Given the description of an element on the screen output the (x, y) to click on. 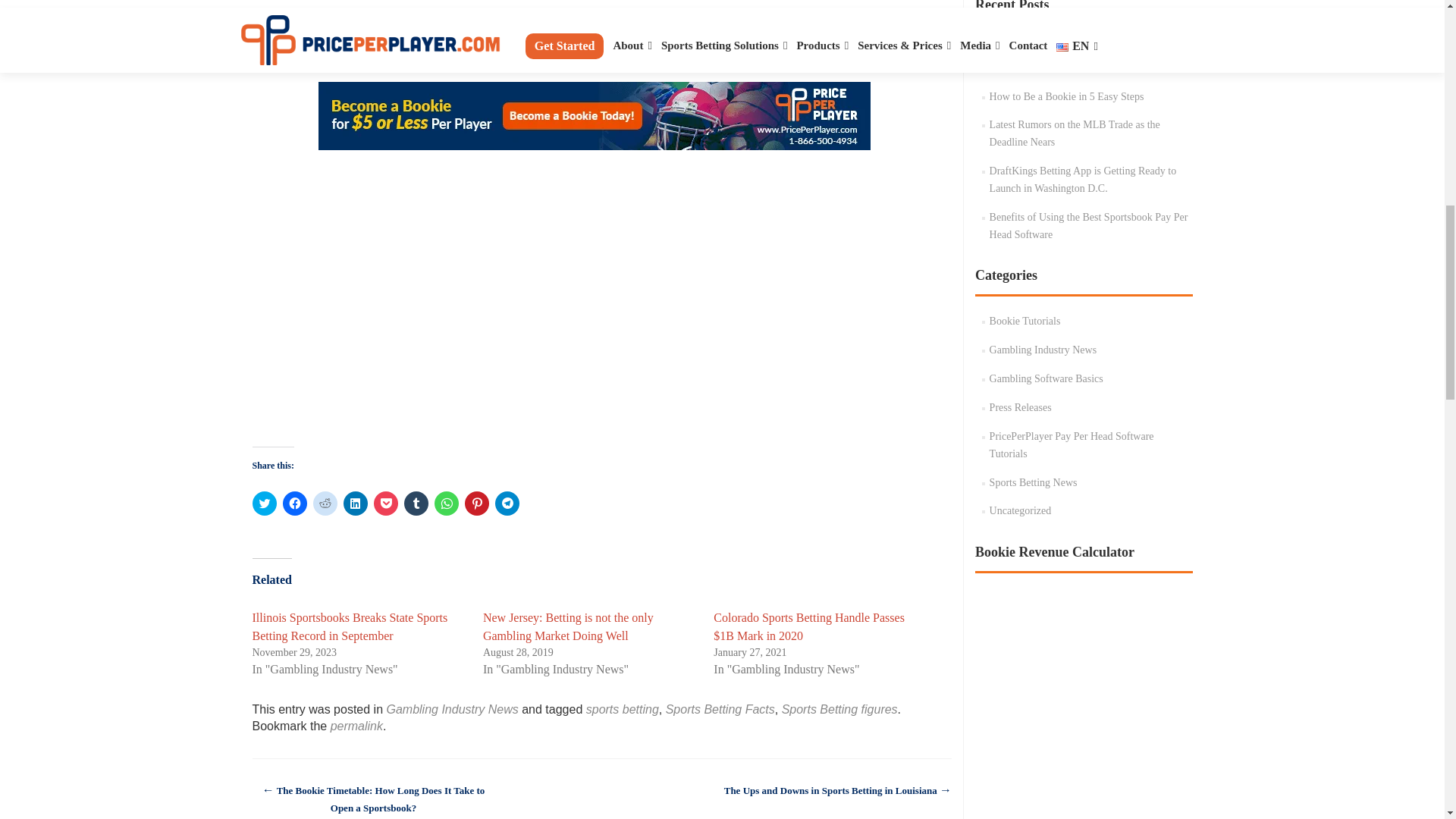
Click to share on Facebook (293, 503)
Click to share on Pinterest (475, 503)
Click to share on LinkedIn (354, 503)
Click to share on Pocket (384, 503)
Click to share on Telegram (506, 503)
Click to share on WhatsApp (445, 503)
Click to share on Twitter (263, 503)
Click to share on Tumblr (415, 503)
